Given the description of an element on the screen output the (x, y) to click on. 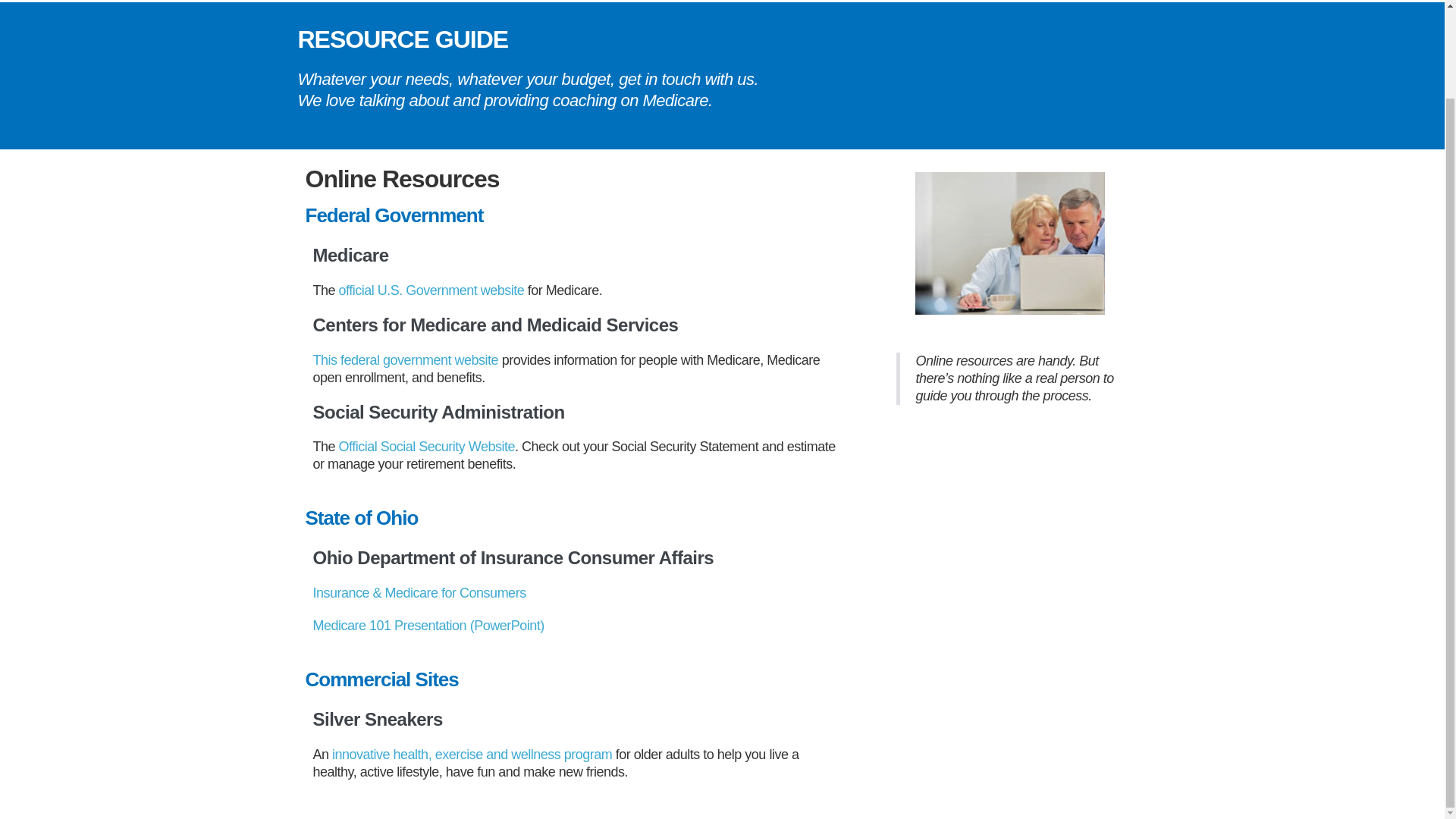
innovative health, exercise and wellness program (471, 754)
 ODoI site  (428, 625)
 CMS site (405, 359)
official U.S. Government website (431, 290)
 ODoI site  (419, 592)
 Social Security site  (427, 446)
Official Social Security Website (427, 446)
 official Medicare site  (431, 290)
 Silver Sneakers site  (471, 754)
This federal government website (405, 359)
